Given the description of an element on the screen output the (x, y) to click on. 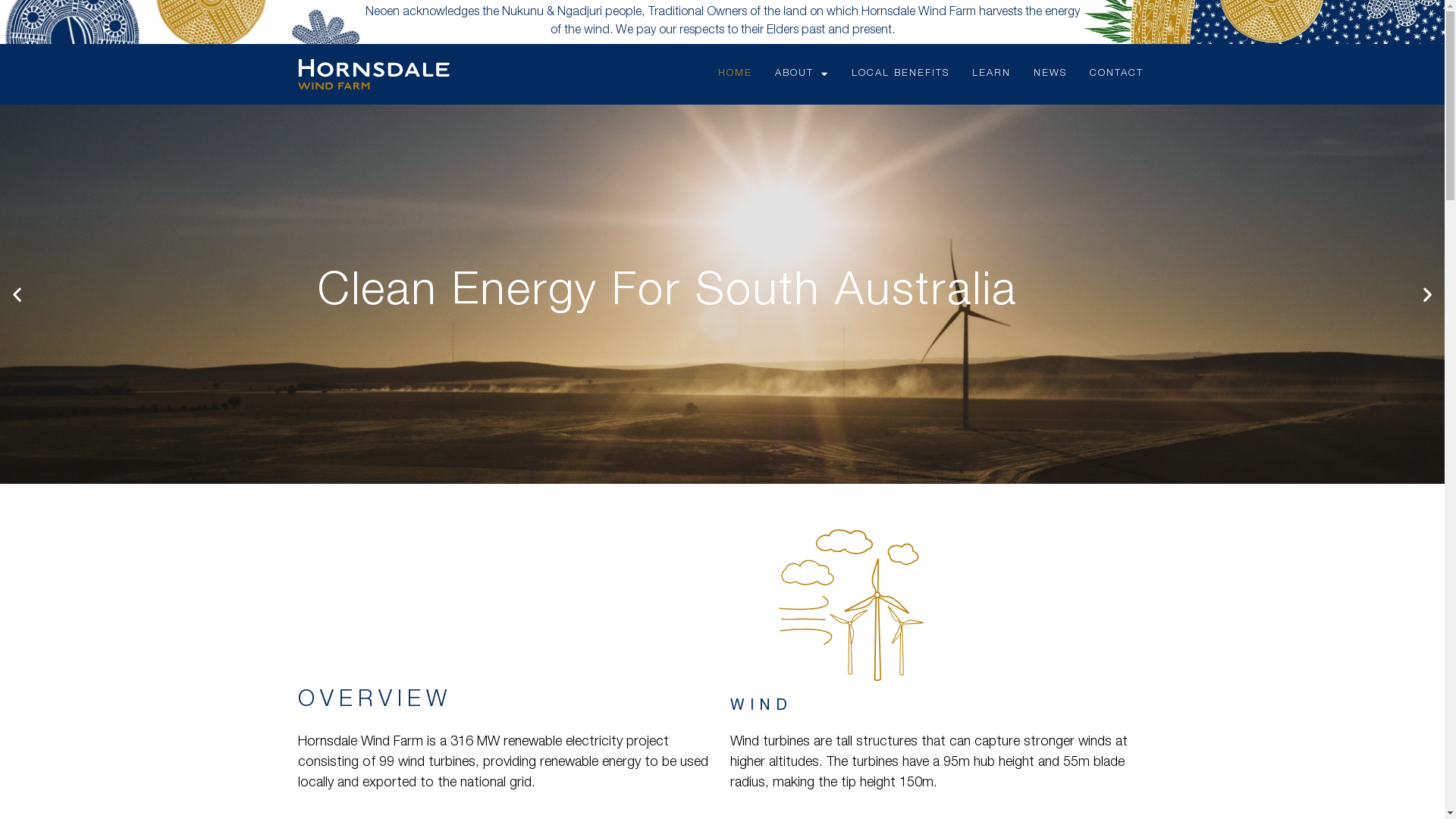
HOME Element type: text (734, 73)
ABOUT Element type: text (800, 73)
LEARN Element type: text (990, 73)
CONTACT Element type: text (1116, 73)
NEWS Element type: text (1050, 73)
LOCAL BENEFITS Element type: text (900, 73)
